Given the description of an element on the screen output the (x, y) to click on. 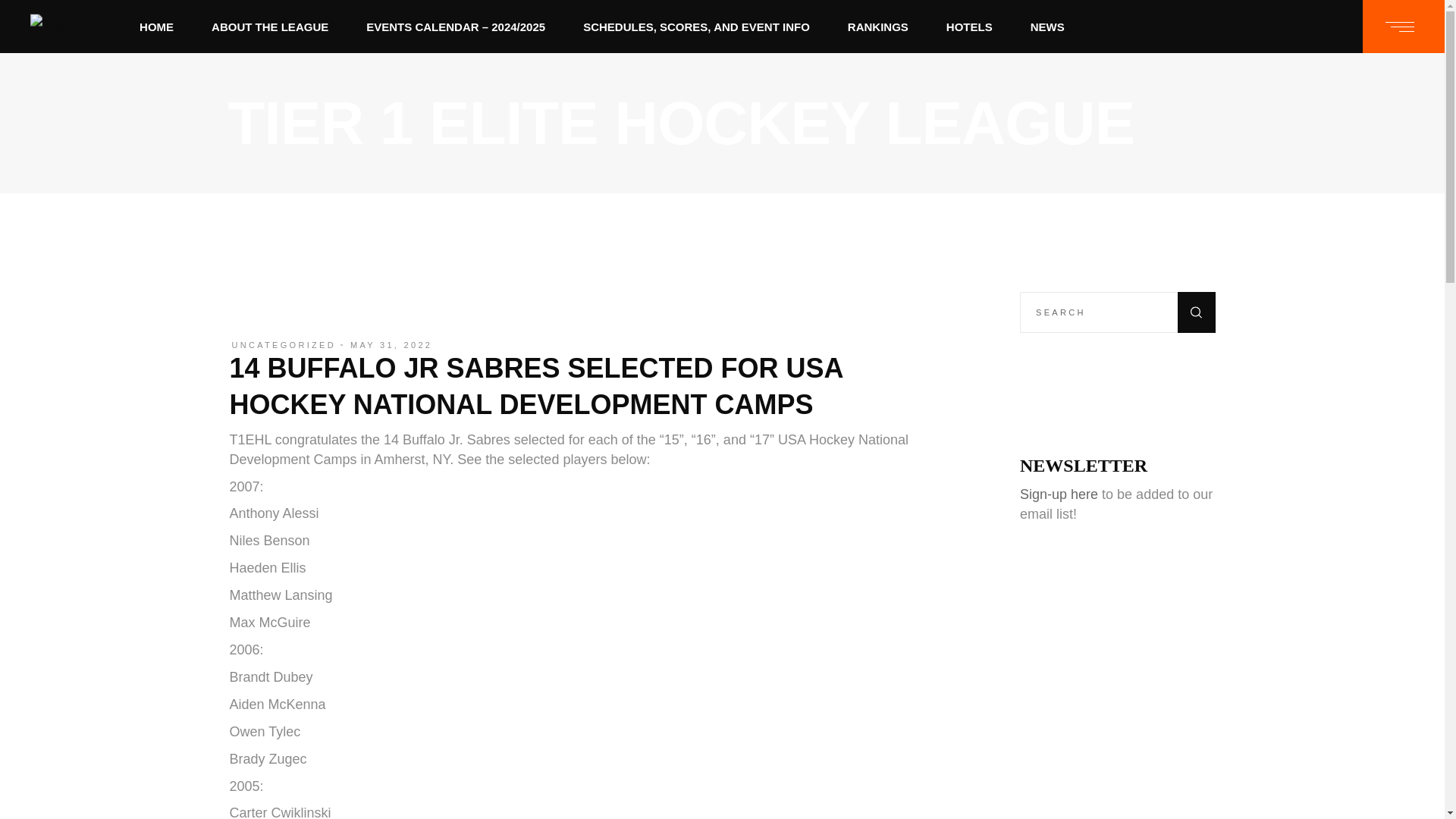
Search for: (1117, 311)
SCHEDULES, SCORES, AND EVENT INFO (696, 26)
ABOUT THE LEAGUE (270, 26)
RANKINGS (877, 26)
